Given the description of an element on the screen output the (x, y) to click on. 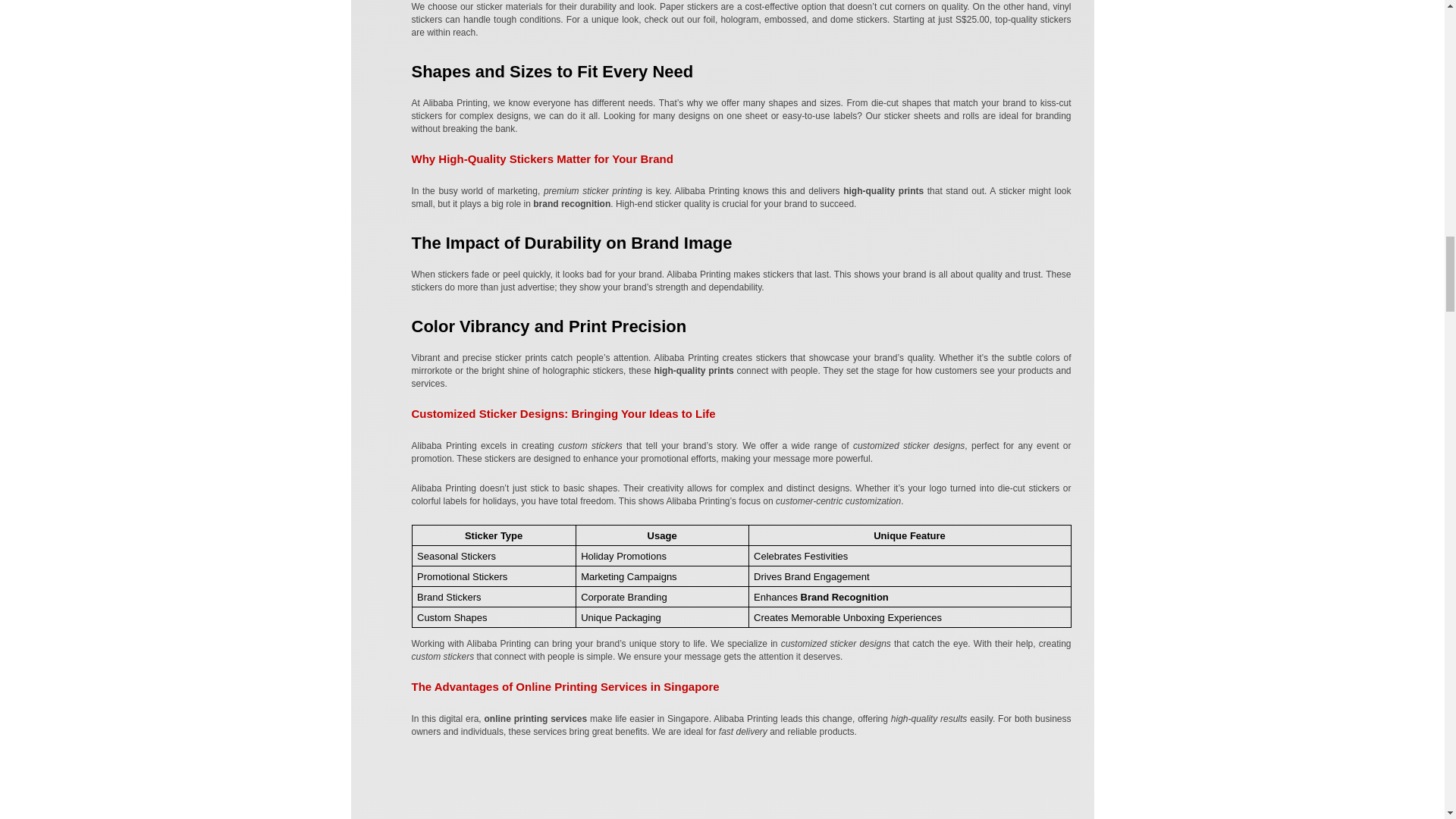
Online Printing Services Benefits (740, 787)
